Given the description of an element on the screen output the (x, y) to click on. 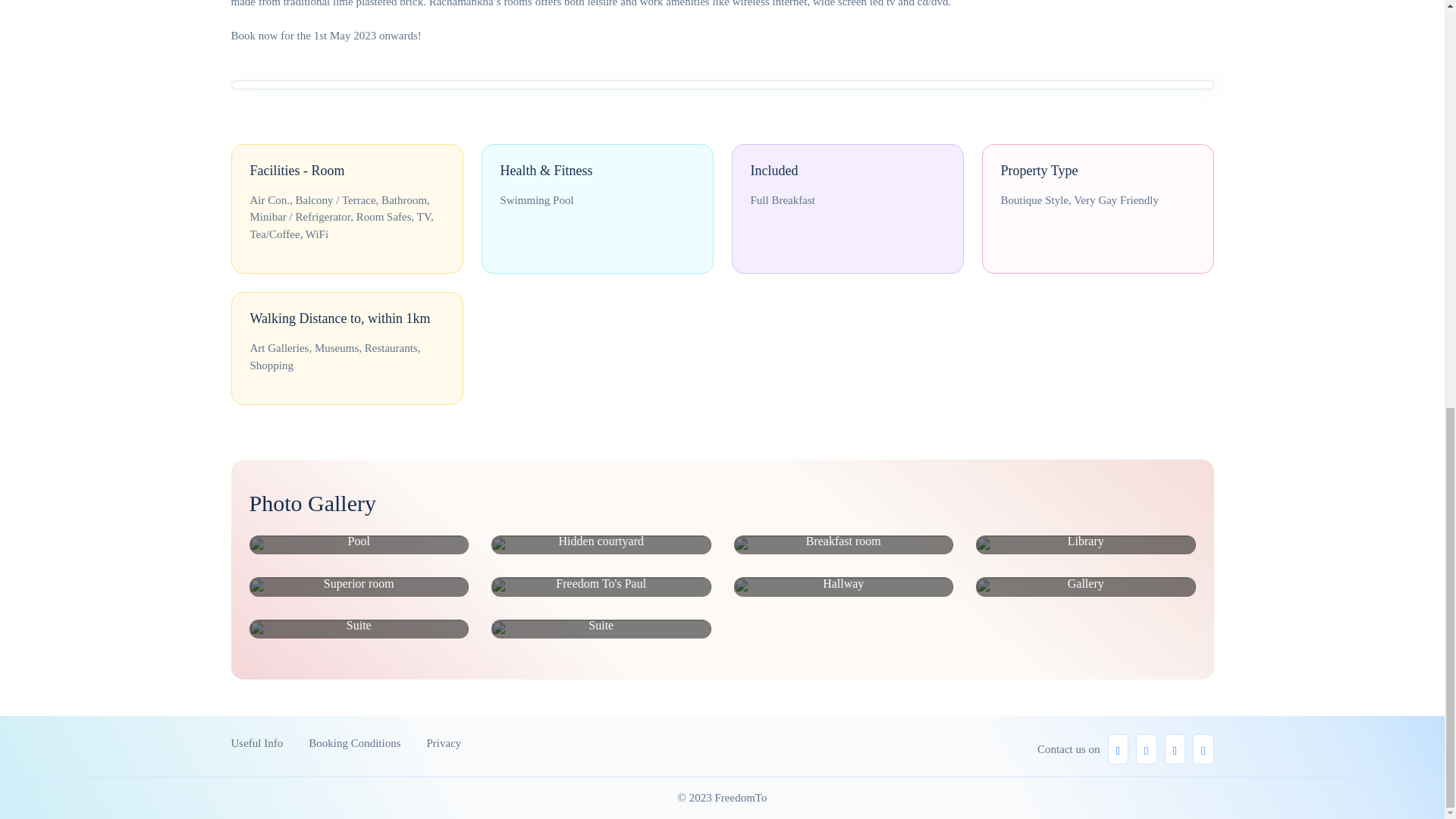
Breakfast room (843, 544)
Superior room (358, 586)
Gallery (1085, 586)
Privacy (443, 743)
Freedom To's Paul (601, 586)
Pool (358, 544)
Hallway (843, 586)
Suite (358, 628)
Useful Info (256, 743)
Hidden courtyard (601, 544)
Suite (601, 628)
Library (1085, 544)
Booking Conditions (354, 743)
